Given the description of an element on the screen output the (x, y) to click on. 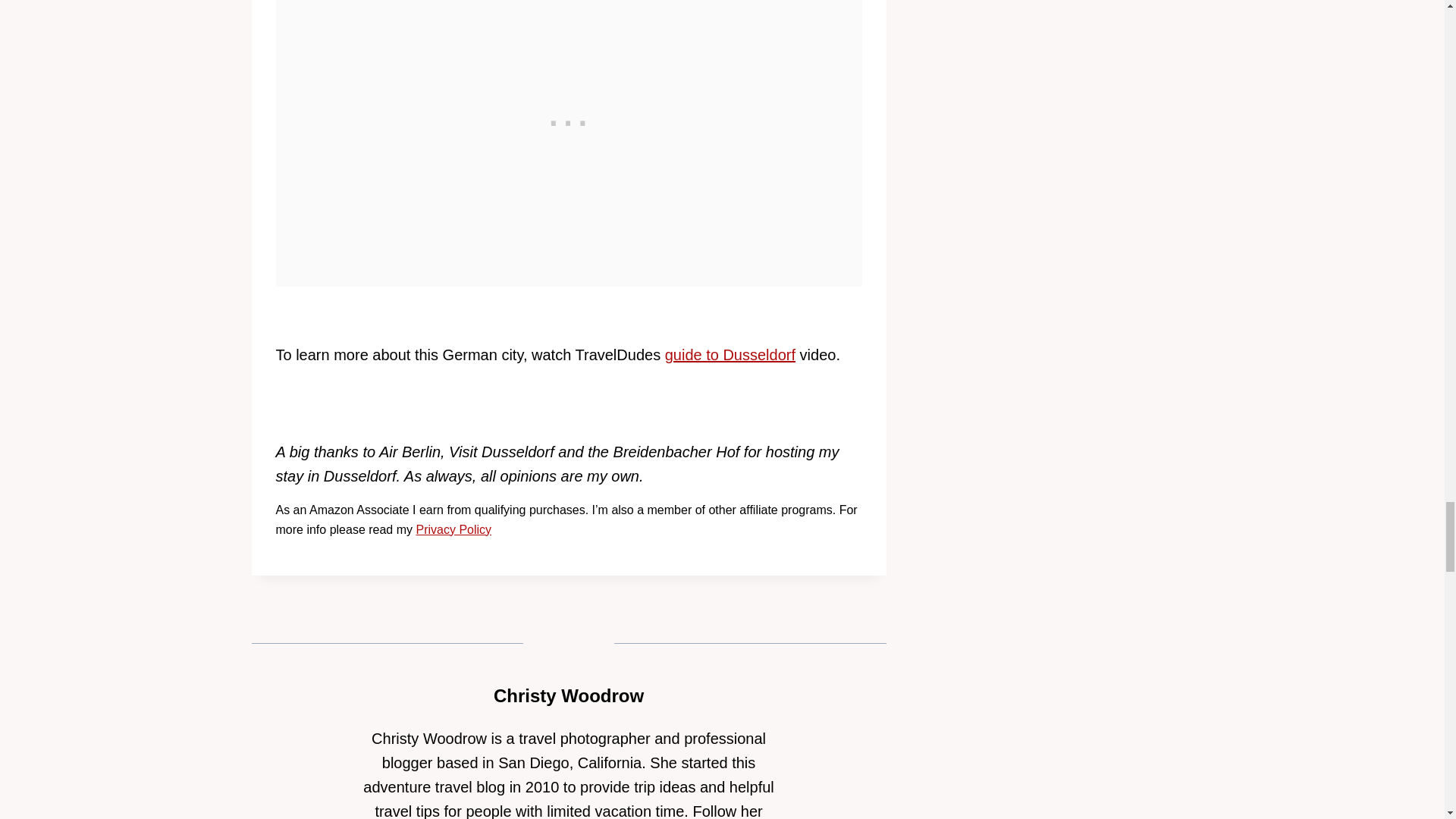
Posts by Christy Woodrow (568, 695)
guide to Dusseldorf (729, 354)
